Given the description of an element on the screen output the (x, y) to click on. 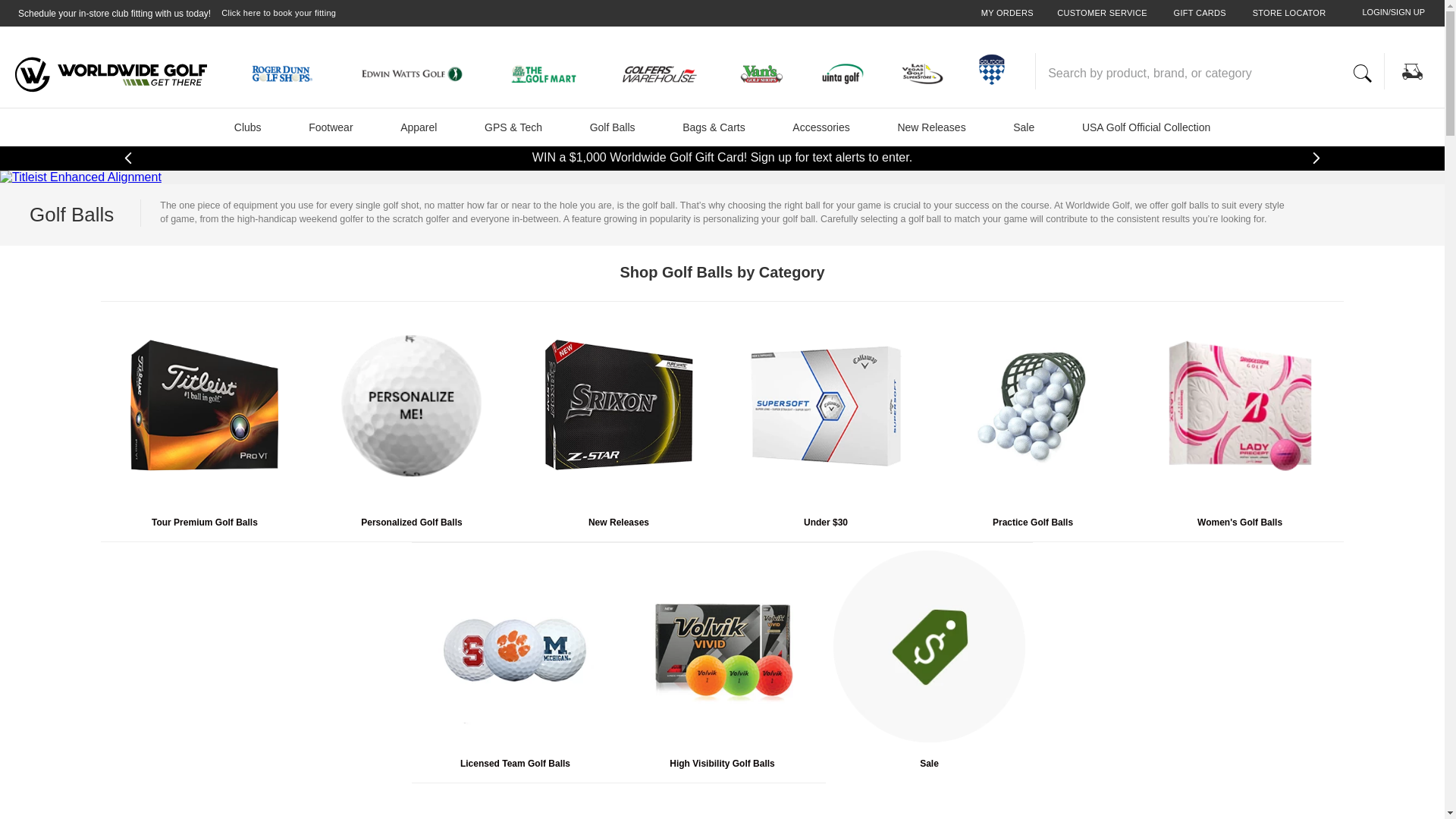
The Golf Mart (552, 75)
Apparel (419, 126)
Sale (1024, 126)
Edwin Watts (423, 75)
USA Golf Official Collection (1146, 126)
Footwear (331, 126)
Tour Premium Golf Balls (203, 522)
GPS-Tech (513, 126)
Golf Balls (612, 126)
Click here to book your fitting (278, 13)
Vans Golf (767, 75)
Las Vegas Golf (927, 75)
MY ORDERS (1007, 13)
Accessories (820, 126)
Roger Dunn (289, 75)
